Given the description of an element on the screen output the (x, y) to click on. 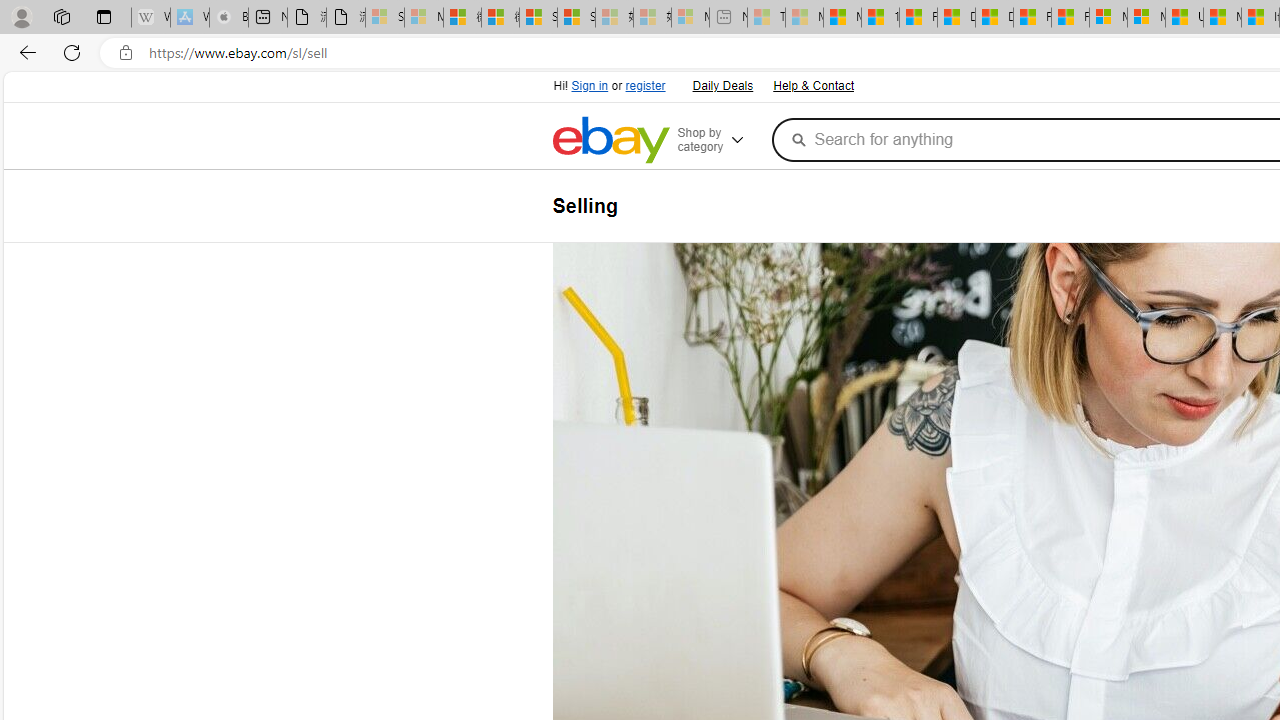
Sign in to your Microsoft account - Sleeping (385, 17)
Daily Deals (722, 86)
Microsoft account | Account Checkup - Sleeping (690, 17)
Wikipedia - Sleeping (150, 17)
register (644, 85)
US Heat Deaths Soared To Record High Last Year (1184, 17)
Help & Contact (811, 84)
eBay Home (610, 139)
